Given the description of an element on the screen output the (x, y) to click on. 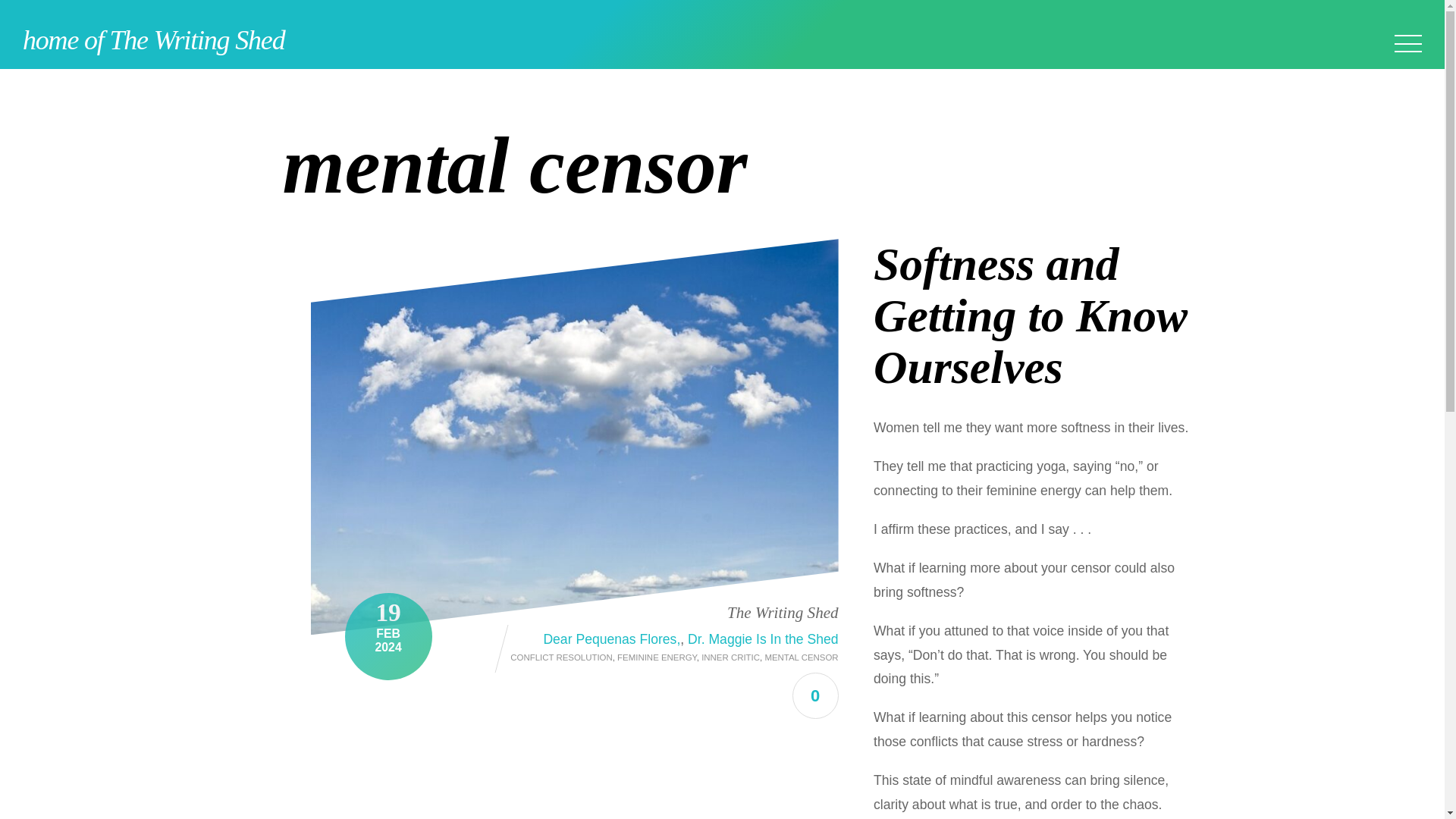
CONFLICT RESOLUTION (561, 656)
Dr. Maggie Is In the Shed (762, 639)
INNER CRITIC (730, 656)
MENTAL CENSOR (801, 656)
0 (815, 695)
home of The Writing Shed (153, 40)
home of The Writing Shed (153, 40)
Dear Pequenas Flores, (611, 639)
The Writing Shed (782, 611)
FEMININE ENERGY (657, 656)
Softness and Getting to Know Ourselves (1030, 315)
